Given the description of an element on the screen output the (x, y) to click on. 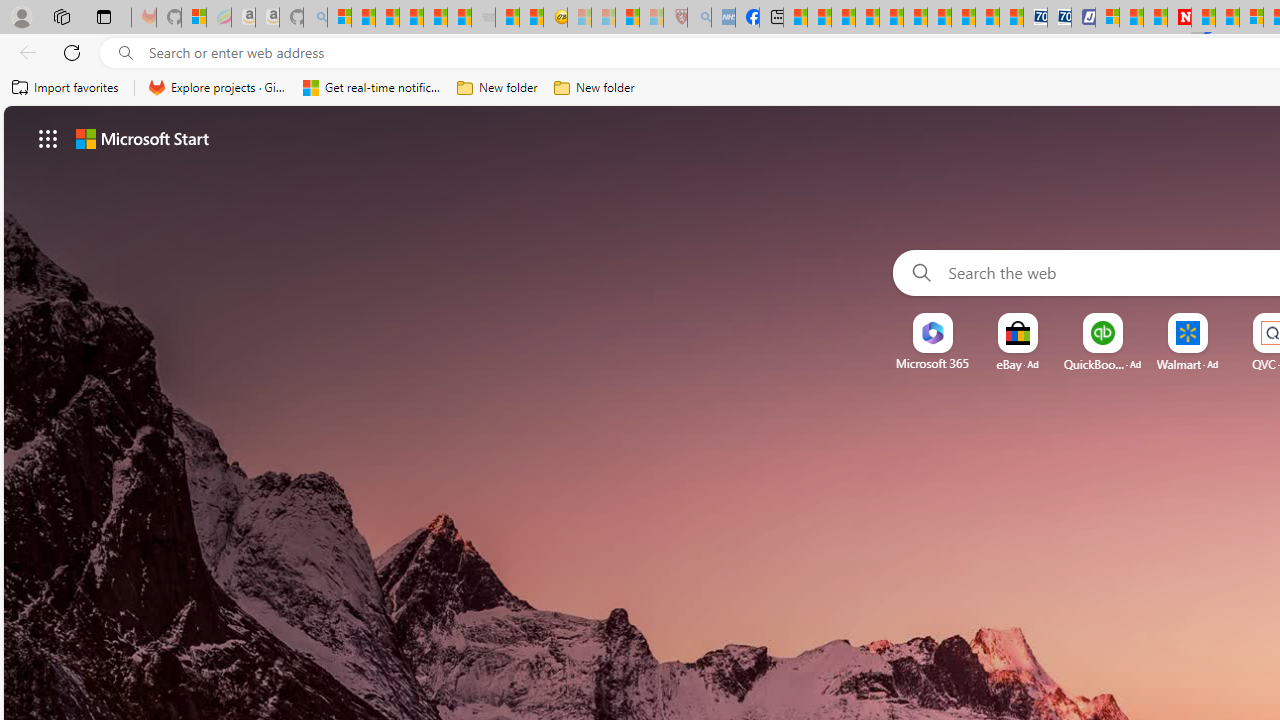
Combat Siege - Sleeping (483, 17)
